Given the description of an element on the screen output the (x, y) to click on. 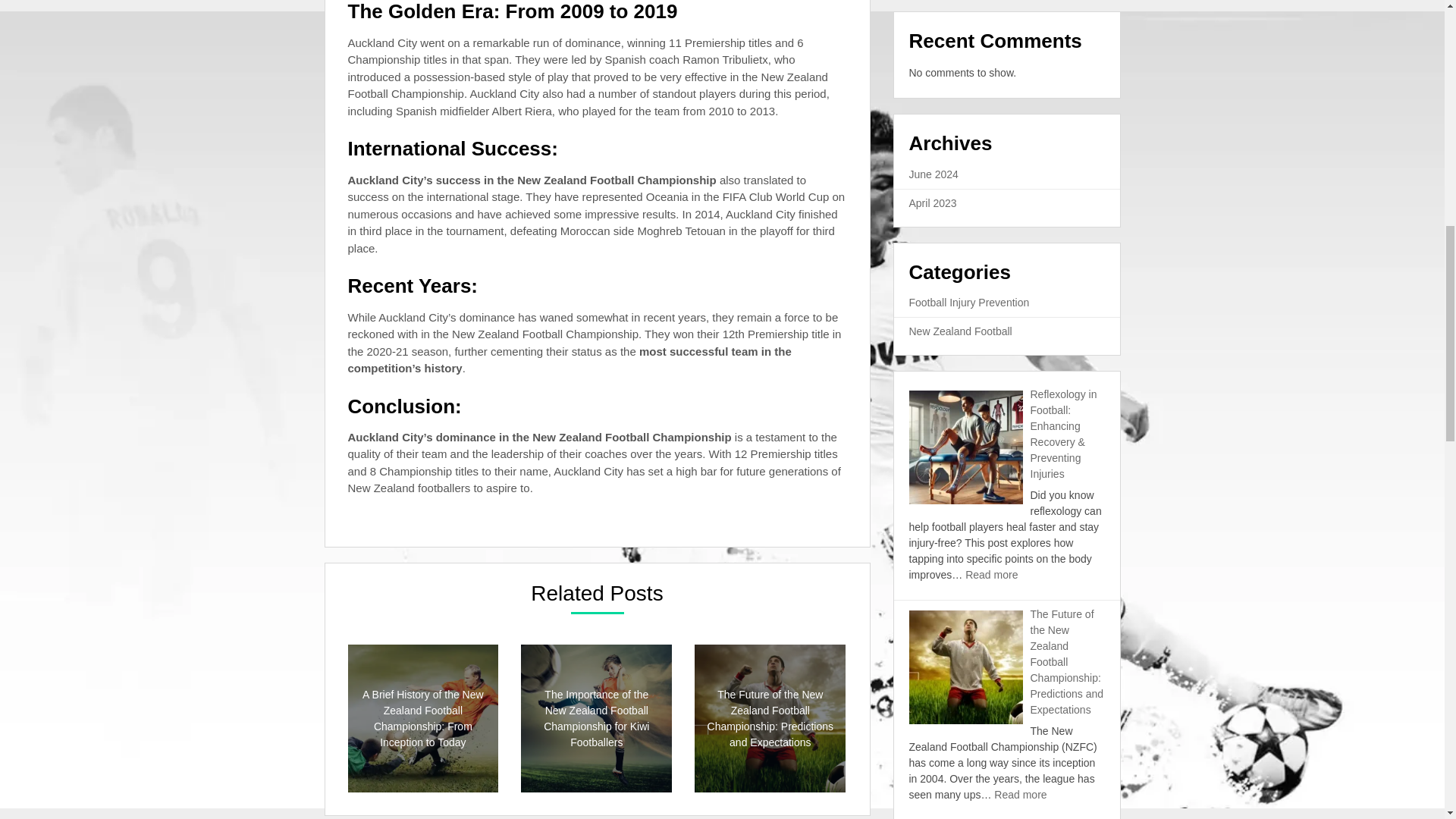
New Zealand Football (959, 331)
Football Injury Prevention (968, 302)
June 2024 (933, 174)
April 2023 (932, 203)
